Given the description of an element on the screen output the (x, y) to click on. 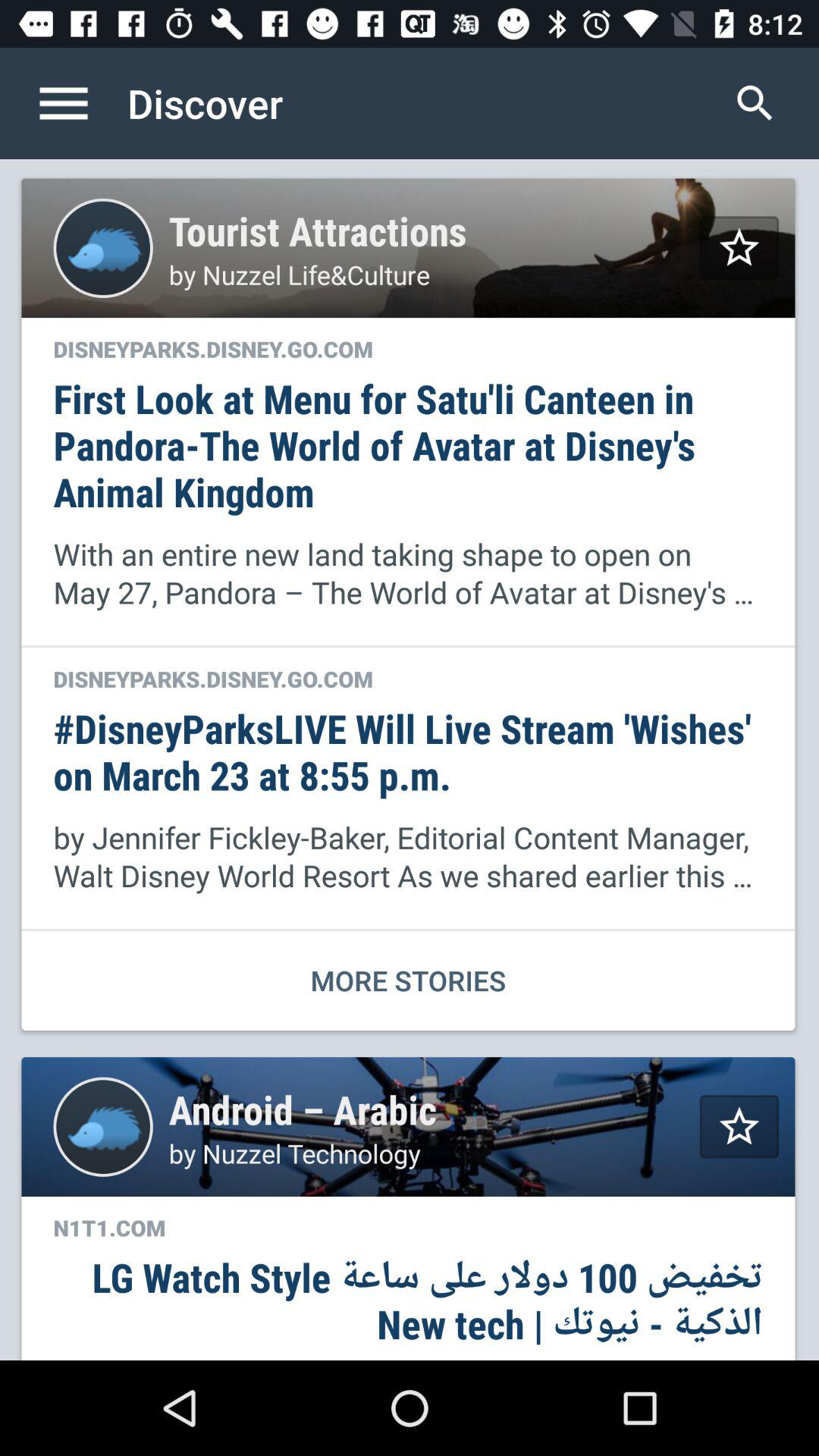
save page (739, 1126)
